Given the description of an element on the screen output the (x, y) to click on. 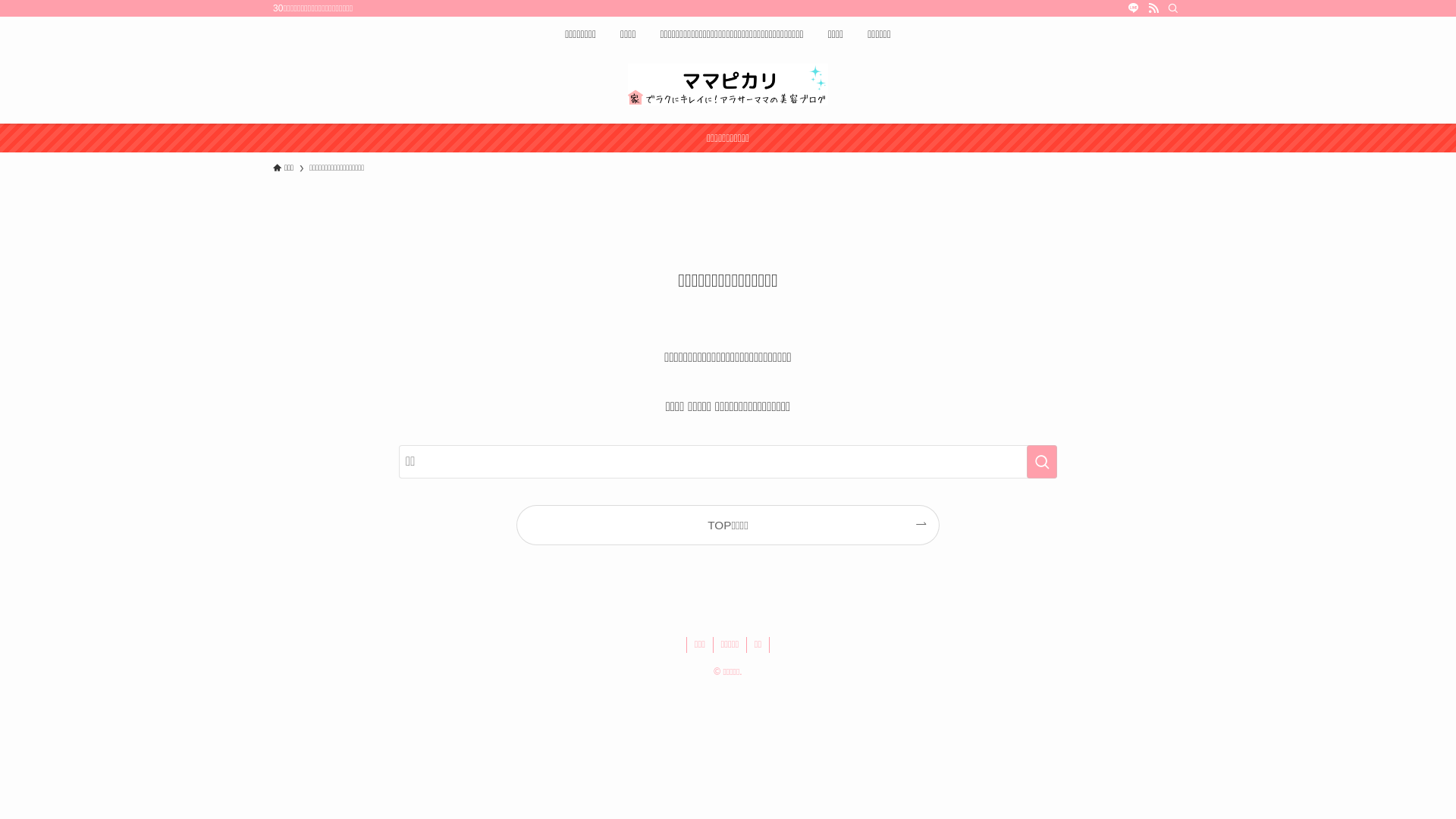
search Element type: text (928, 421)
search Element type: text (1041, 461)
